Given the description of an element on the screen output the (x, y) to click on. 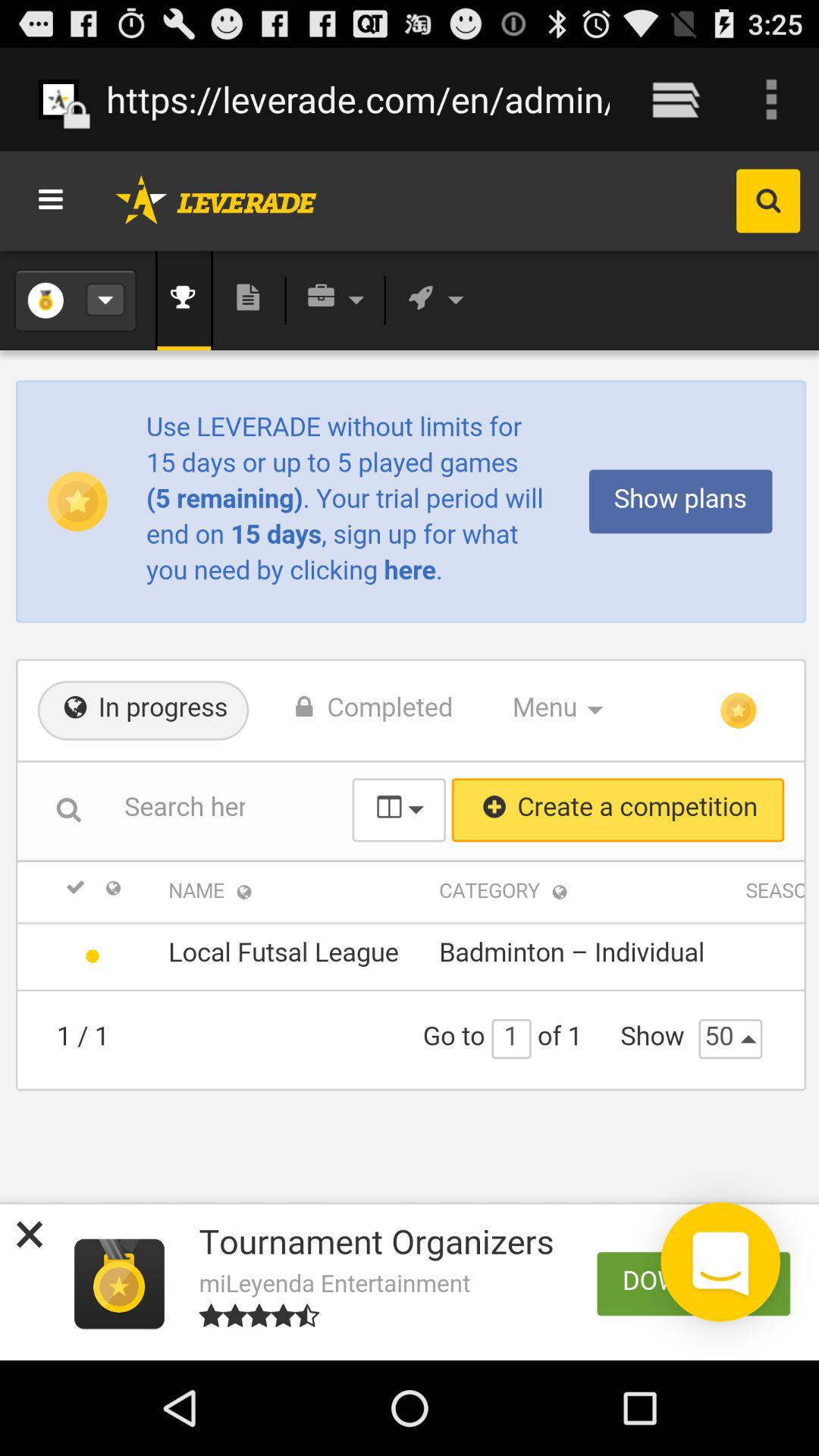
press item at the center (409, 755)
